Given the description of an element on the screen output the (x, y) to click on. 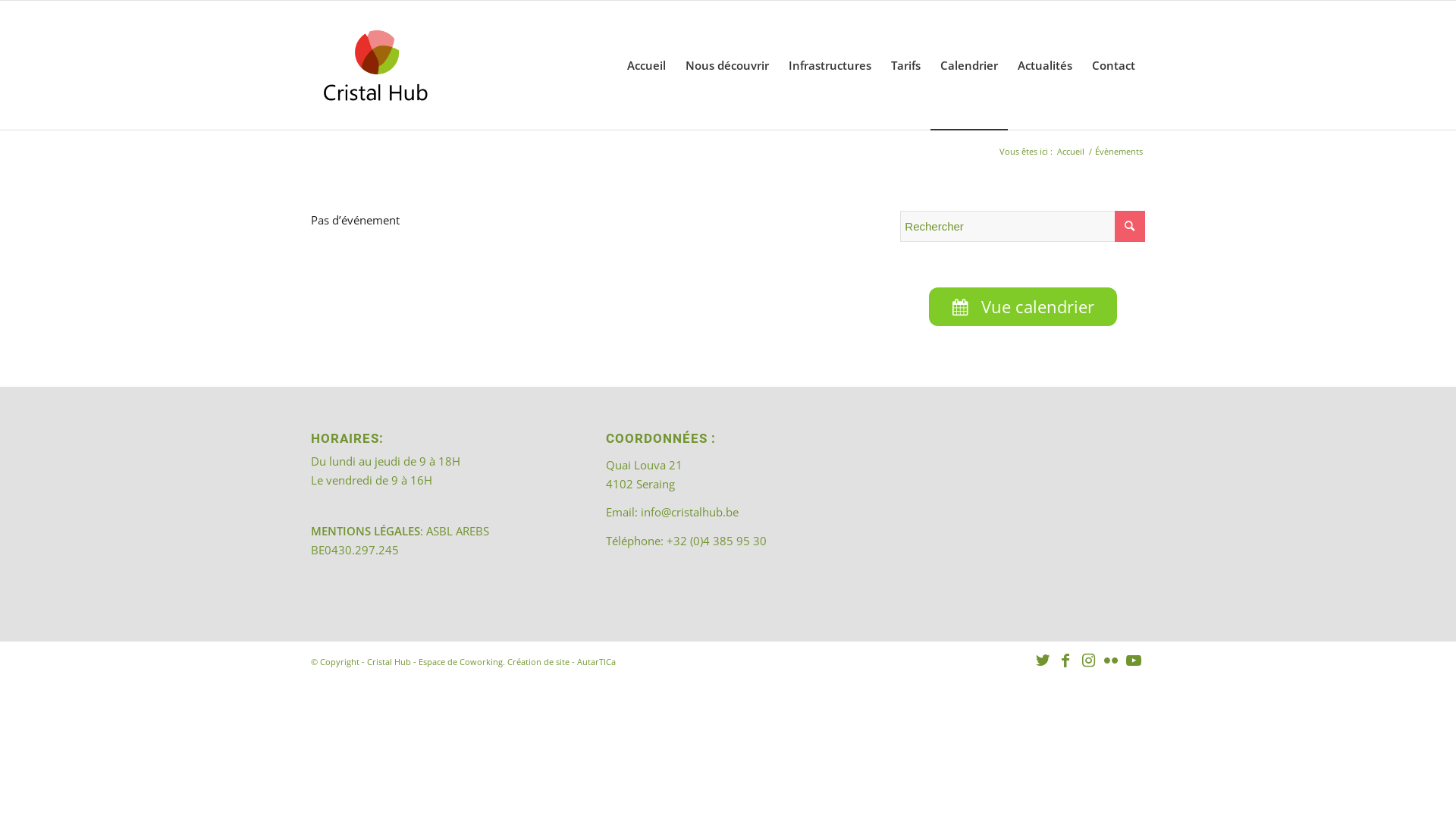
Twitter Element type: hover (1042, 660)
202308_logo_CristalHub Element type: hover (374, 64)
Accueil Element type: text (646, 64)
Youtube Element type: hover (1133, 660)
Accueil Element type: text (1070, 150)
Calendrier Element type: text (968, 64)
Flickr Element type: hover (1110, 660)
info@cristalhub.be Element type: text (689, 511)
Facebook Element type: hover (1065, 660)
Contact Element type: text (1113, 64)
Infrastructures Element type: text (829, 64)
Tarifs Element type: text (905, 64)
Vue calendrier Element type: text (1022, 306)
Instagram Element type: hover (1087, 660)
